Given the description of an element on the screen output the (x, y) to click on. 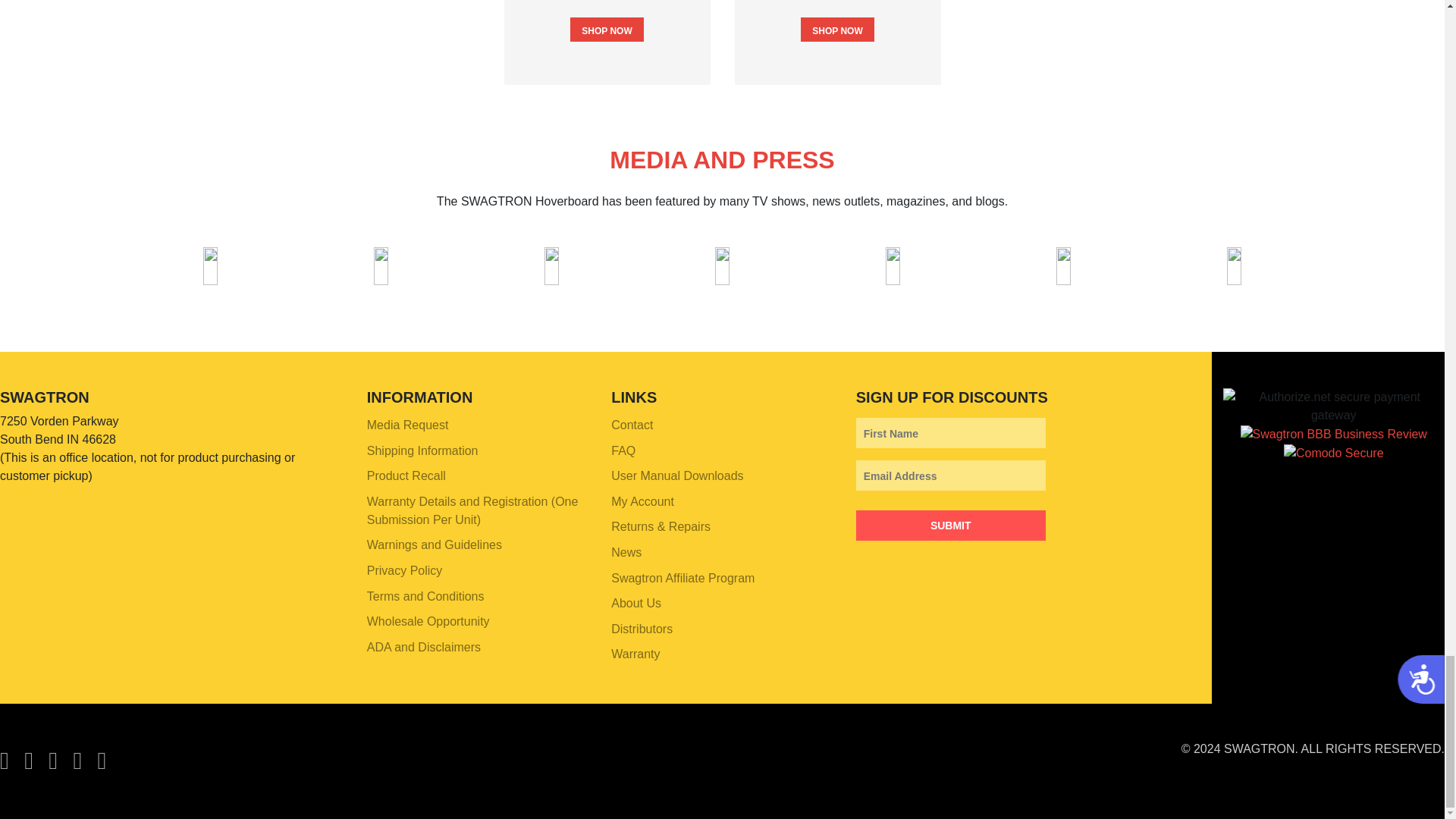
Media Request (477, 425)
Privacy Policy (477, 570)
Product Recall (477, 475)
Shipping Information (477, 451)
Warnings and Guidelines (477, 545)
Submit (950, 525)
